Given the description of an element on the screen output the (x, y) to click on. 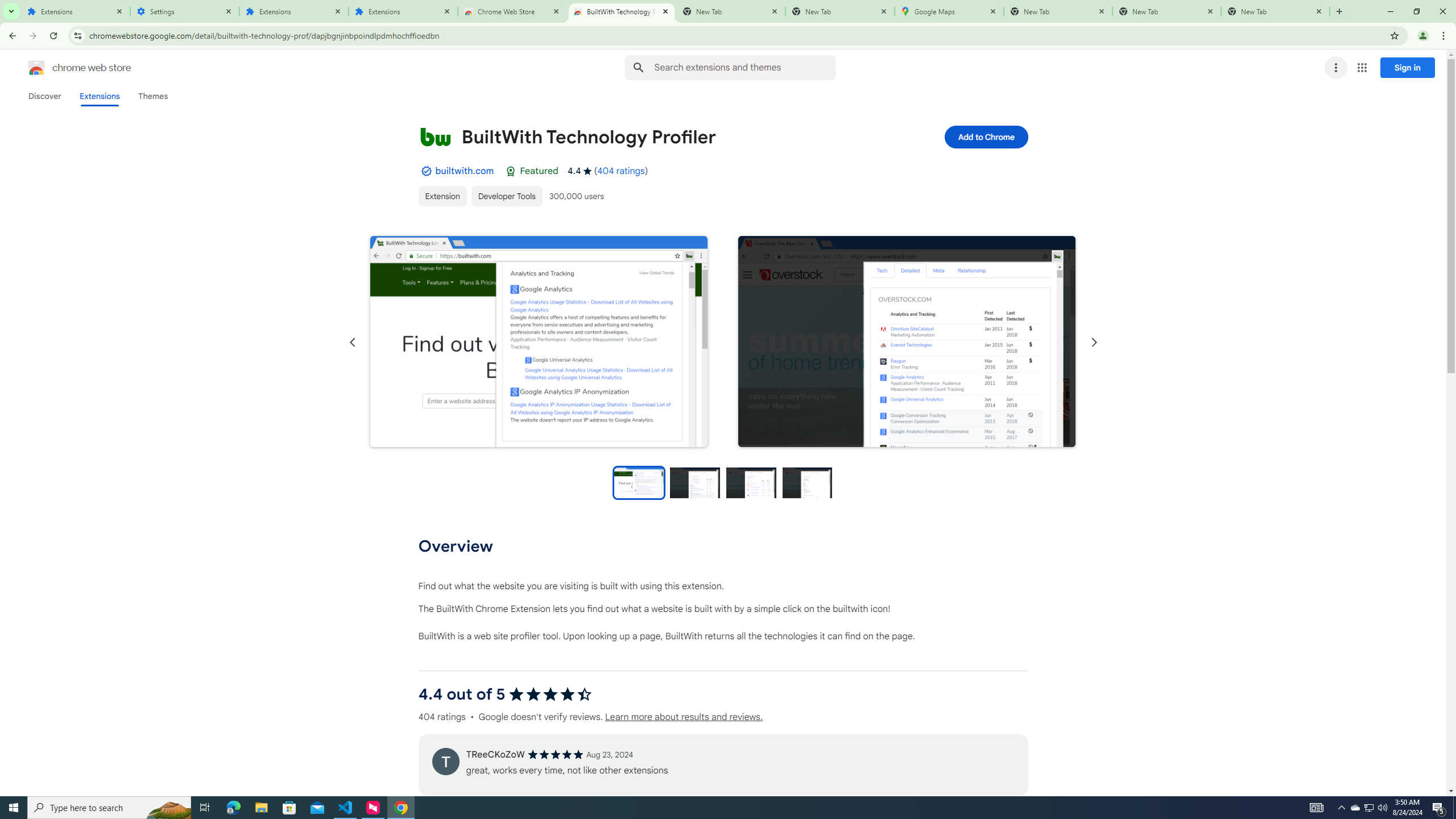
Extensions (293, 11)
Add to Chrome (985, 136)
Extensions (99, 95)
Preview slide 1 (637, 482)
Review's profile picture (445, 760)
Item media 1 screenshot (538, 342)
404 ratings (620, 170)
Extension (442, 195)
